Given the description of an element on the screen output the (x, y) to click on. 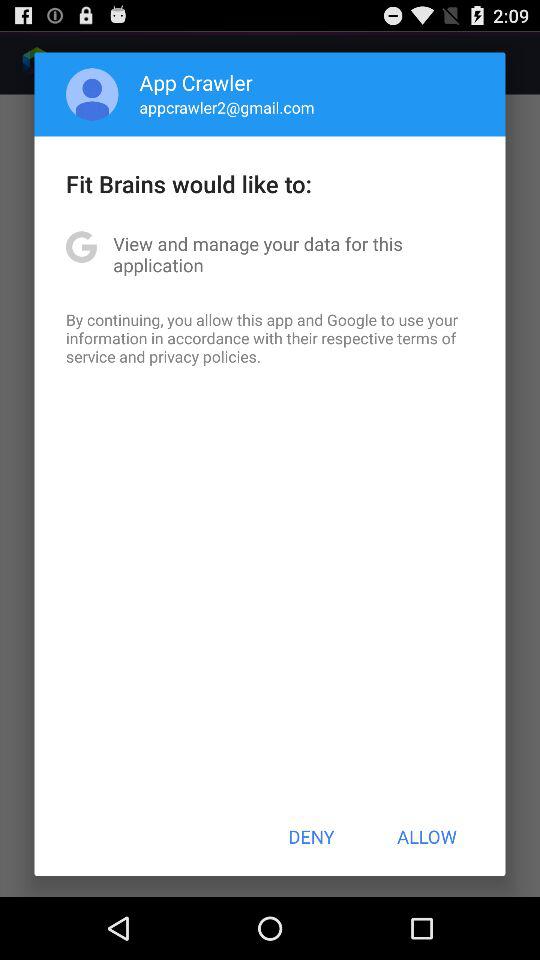
choose app above the fit brains would item (92, 94)
